Given the description of an element on the screen output the (x, y) to click on. 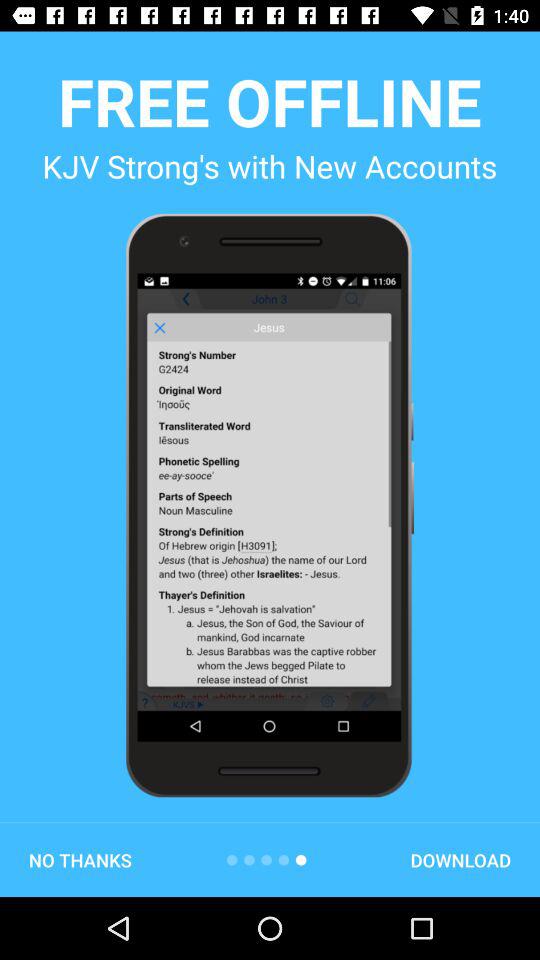
click free offline app (269, 101)
